Given the description of an element on the screen output the (x, y) to click on. 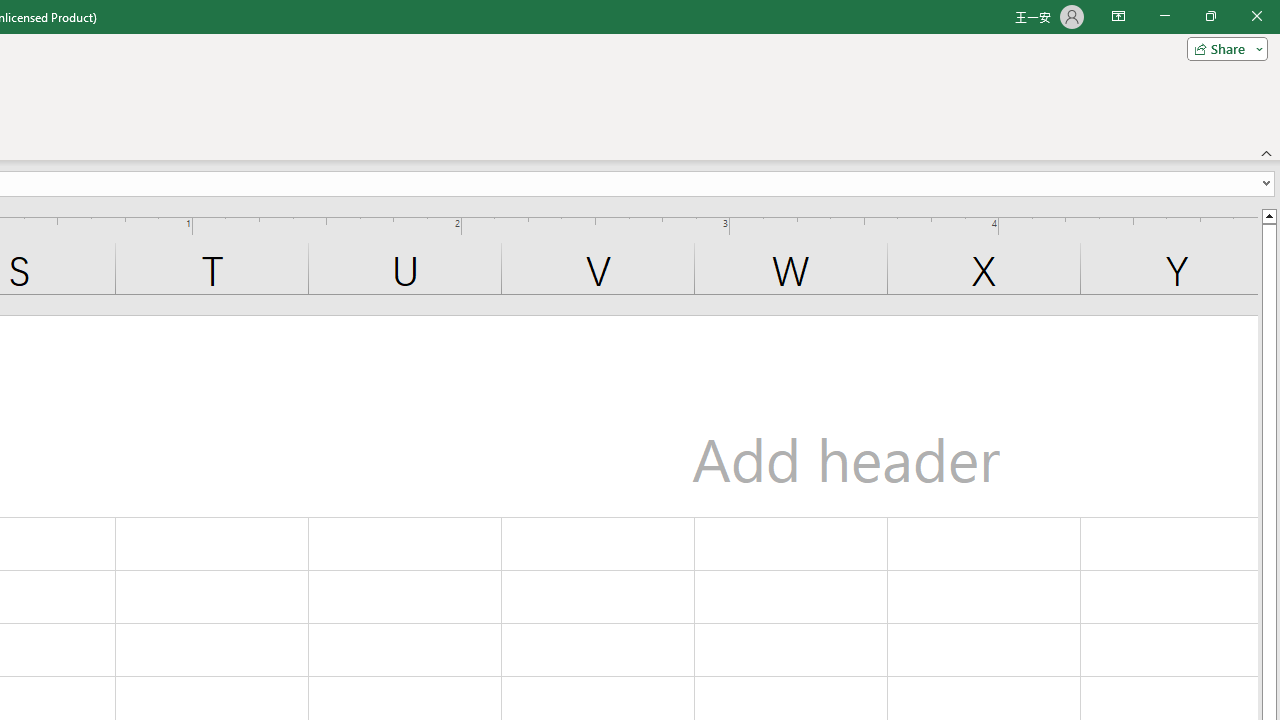
Share (1223, 48)
Restore Down (1210, 16)
Collapse the Ribbon (1267, 152)
Close (1256, 16)
Ribbon Display Options (1118, 16)
Minimize (1164, 16)
Line up (1268, 215)
